Given the description of an element on the screen output the (x, y) to click on. 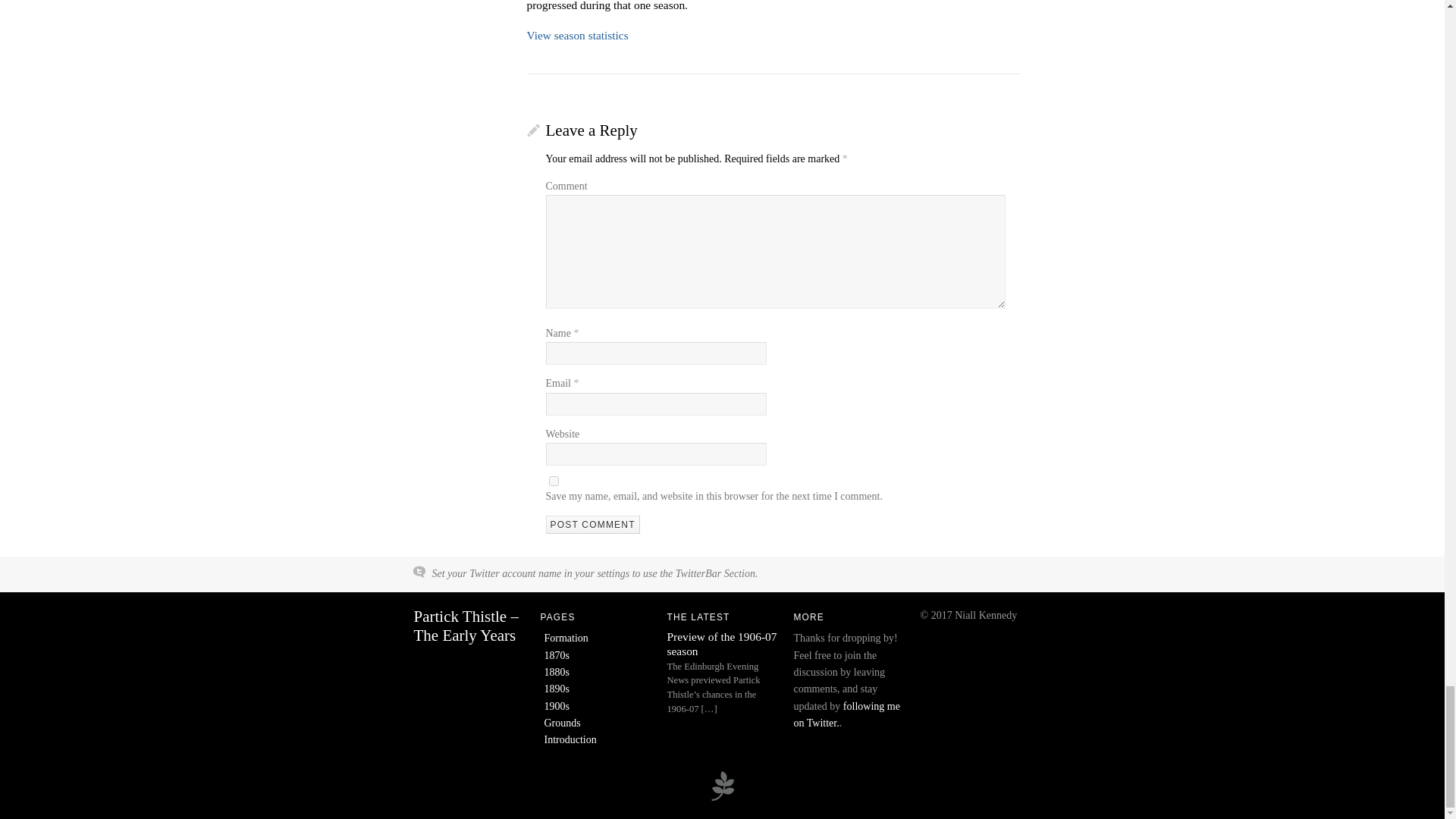
Post Comment (593, 524)
Home (465, 625)
yes (553, 480)
PageLines (722, 798)
